Given the description of an element on the screen output the (x, y) to click on. 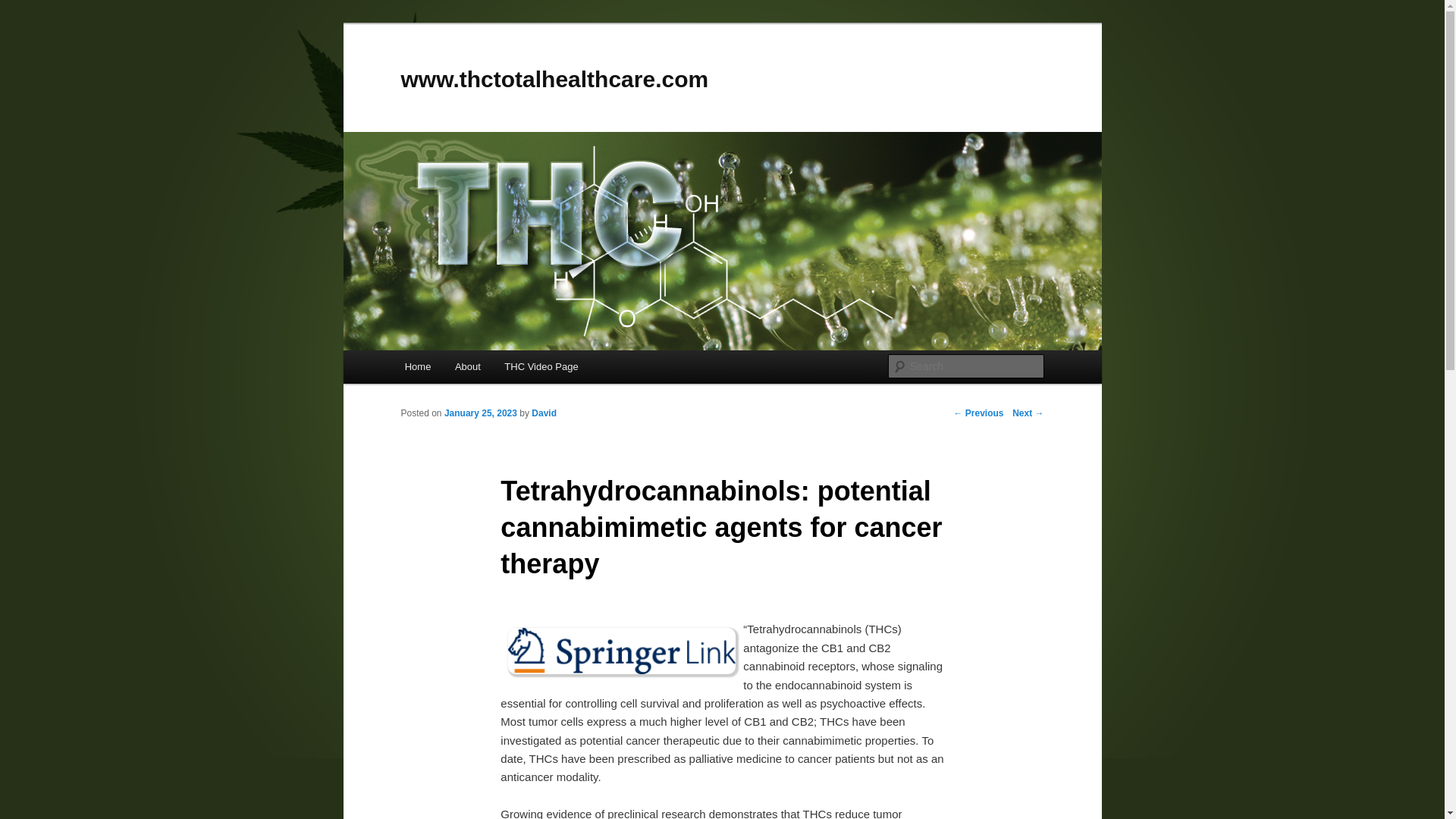
About (467, 366)
Skip to secondary content (479, 369)
David (543, 412)
January 25, 2023 (480, 412)
Home (417, 366)
View all posts by David (543, 412)
THC Video Page (542, 366)
8:14 pm (480, 412)
Search (24, 8)
www.thctotalhealthcare.com (553, 78)
